Given the description of an element on the screen output the (x, y) to click on. 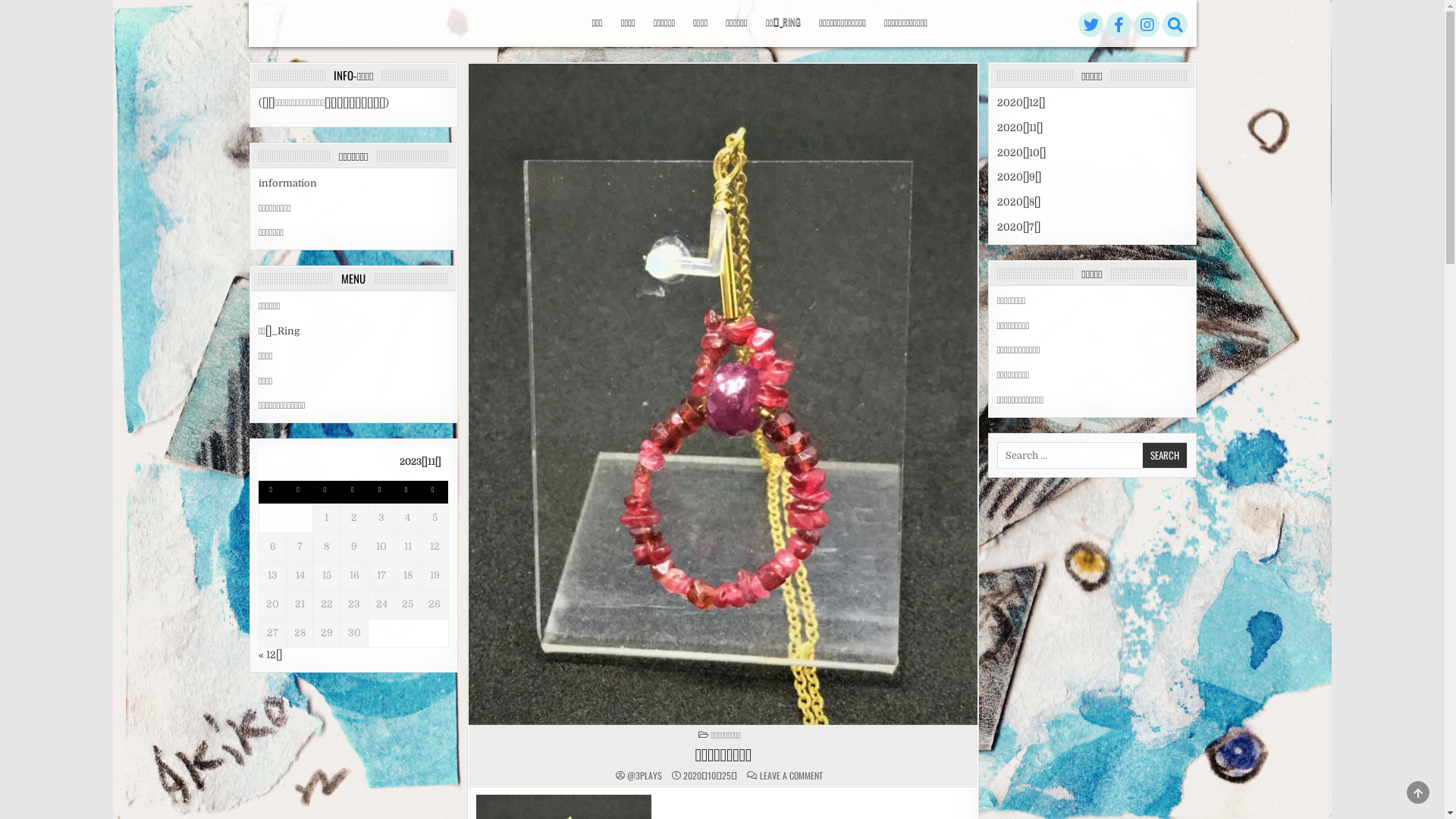
Facebook Element type: hover (1118, 24)
Search Element type: hover (1175, 24)
Instagram Element type: hover (1147, 24)
Twitter Element type: hover (1090, 24)
SCROLL TO TOP Element type: text (1417, 792)
Search Element type: text (1164, 455)
@3PLAYS Element type: text (644, 775)
information Element type: text (287, 182)
